Given the description of an element on the screen output the (x, y) to click on. 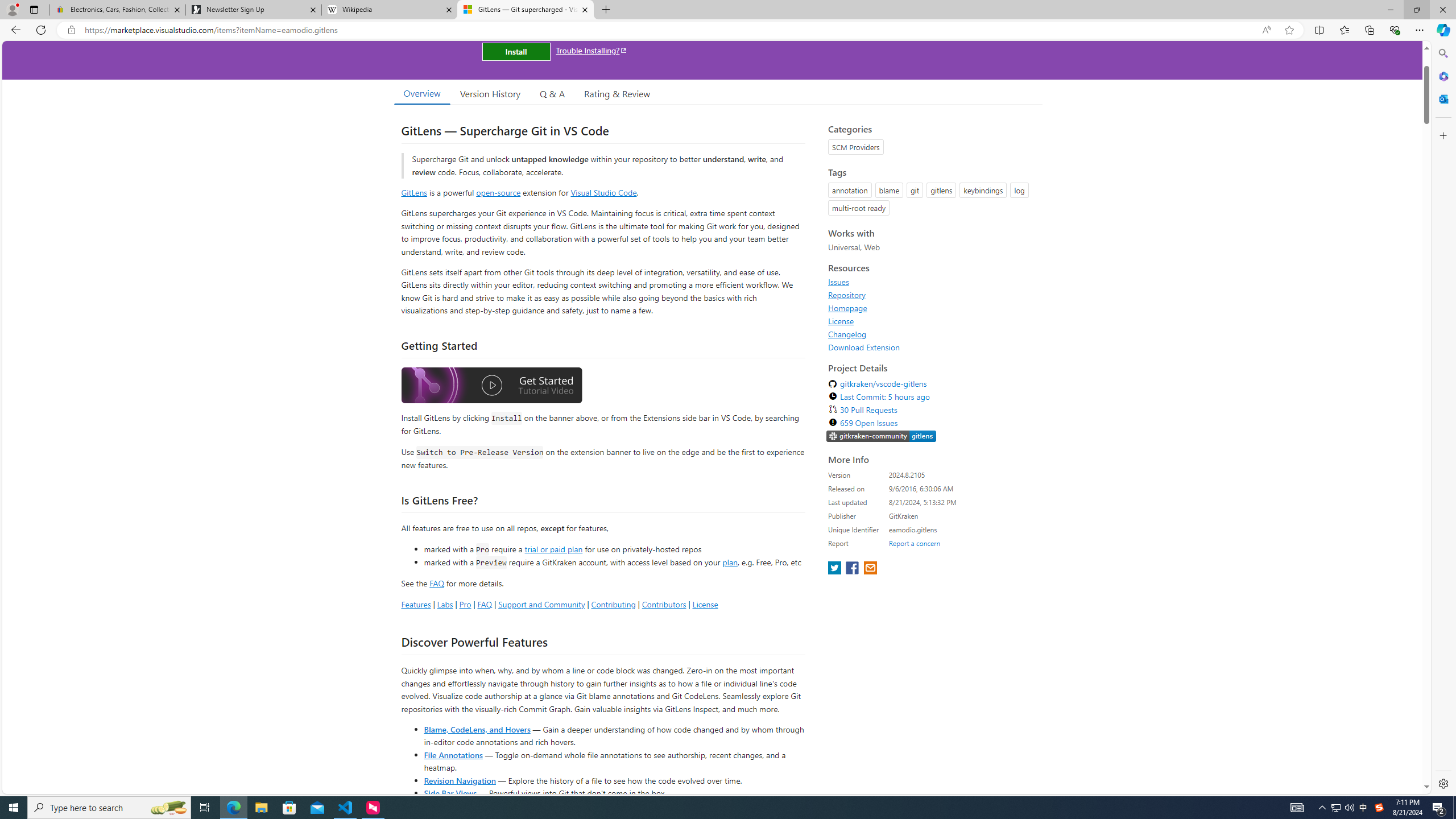
Repository (847, 294)
FAQ (484, 603)
